Given the description of an element on the screen output the (x, y) to click on. 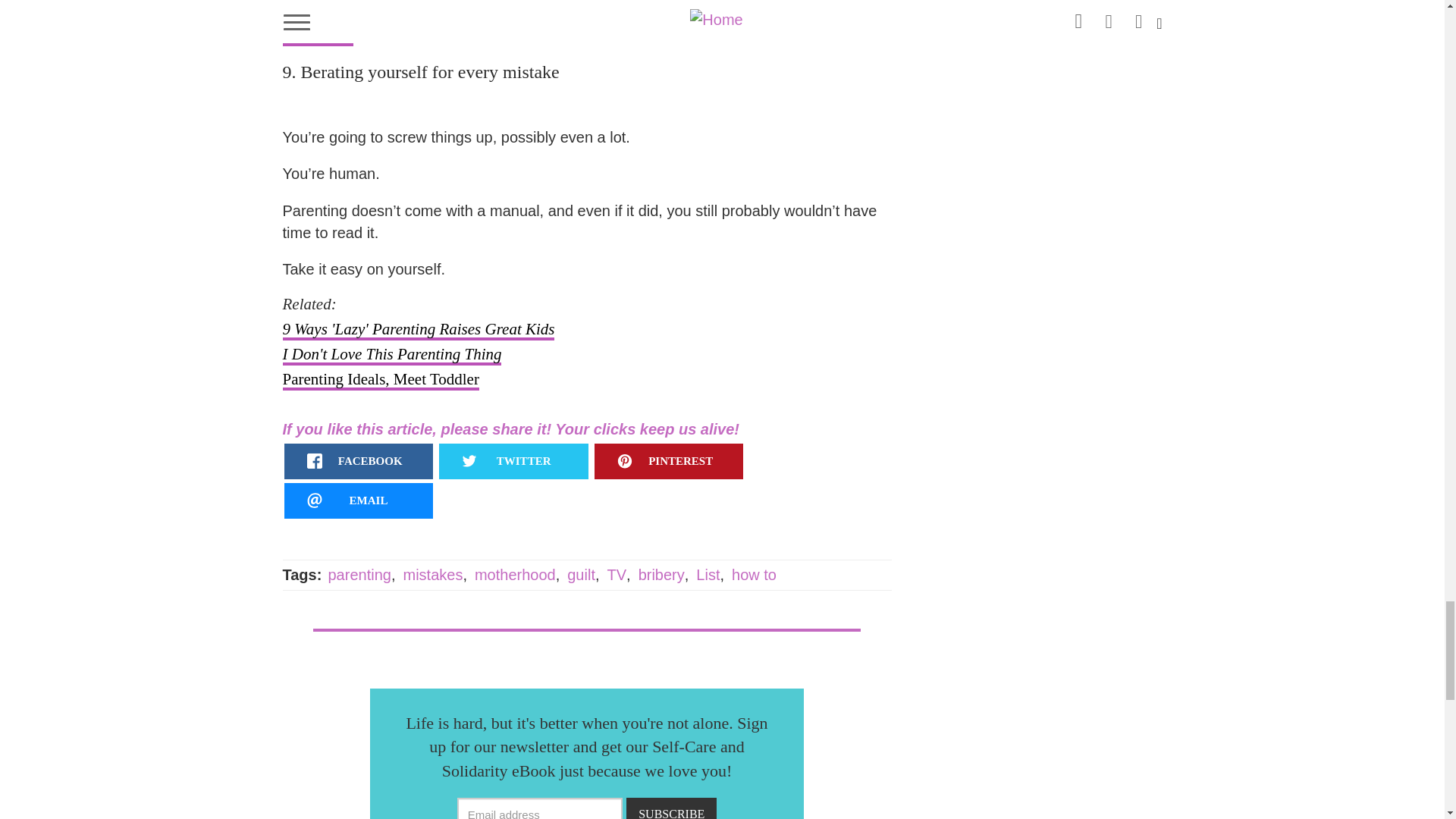
SUBSCRIBE (671, 808)
